Given the description of an element on the screen output the (x, y) to click on. 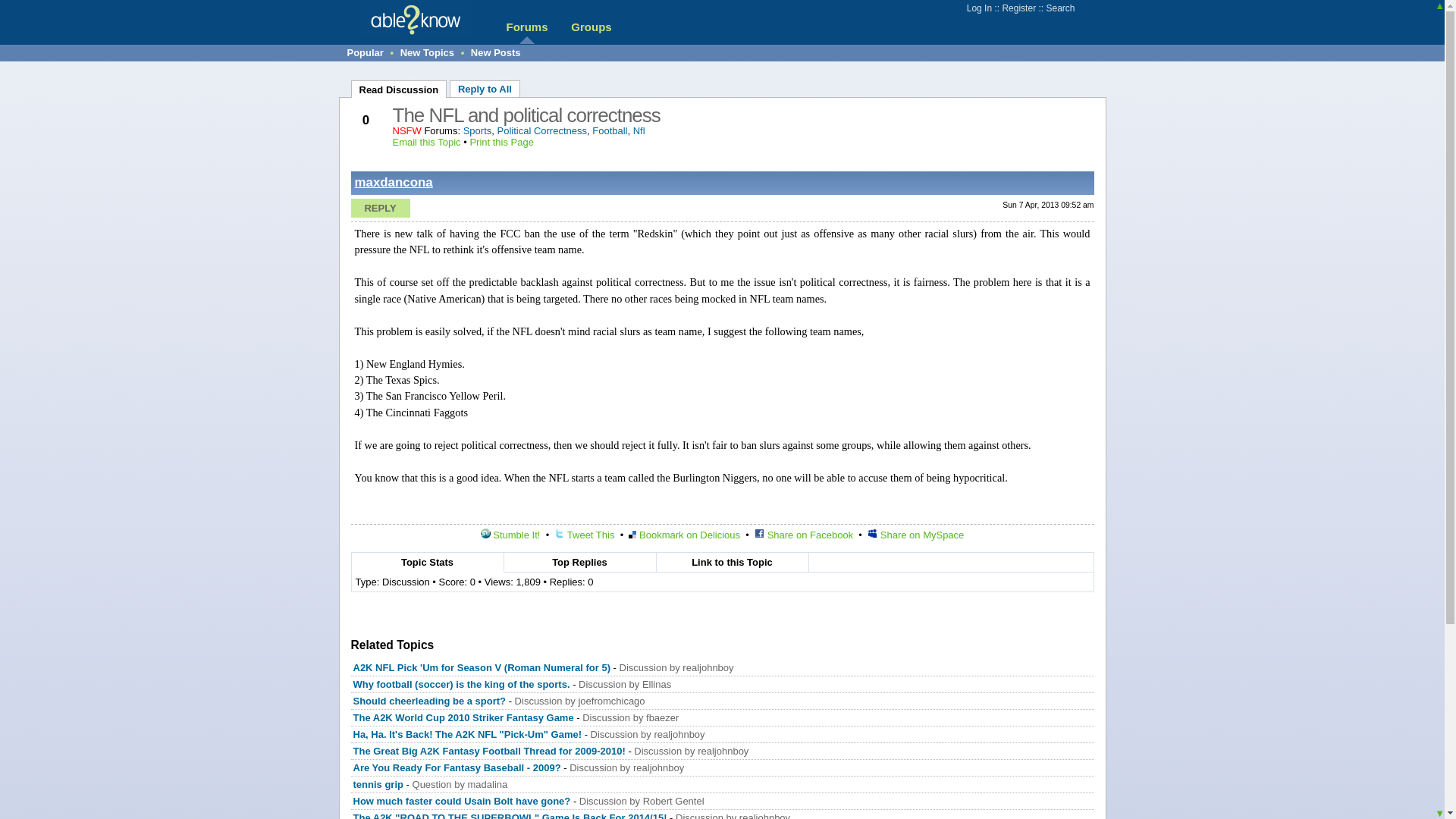
New Topics (427, 52)
Ha, Ha. It's Back! The A2K NFL "Pick-Um" Game! (467, 734)
Bookmark on Delicious (683, 534)
Groups (590, 26)
Reply (379, 208)
Search (1059, 8)
Political Correctness (542, 130)
Email this Topic (427, 142)
Are You Ready For Fantasy Baseball - 2009? (456, 767)
Share on MySpace (915, 534)
